Given the description of an element on the screen output the (x, y) to click on. 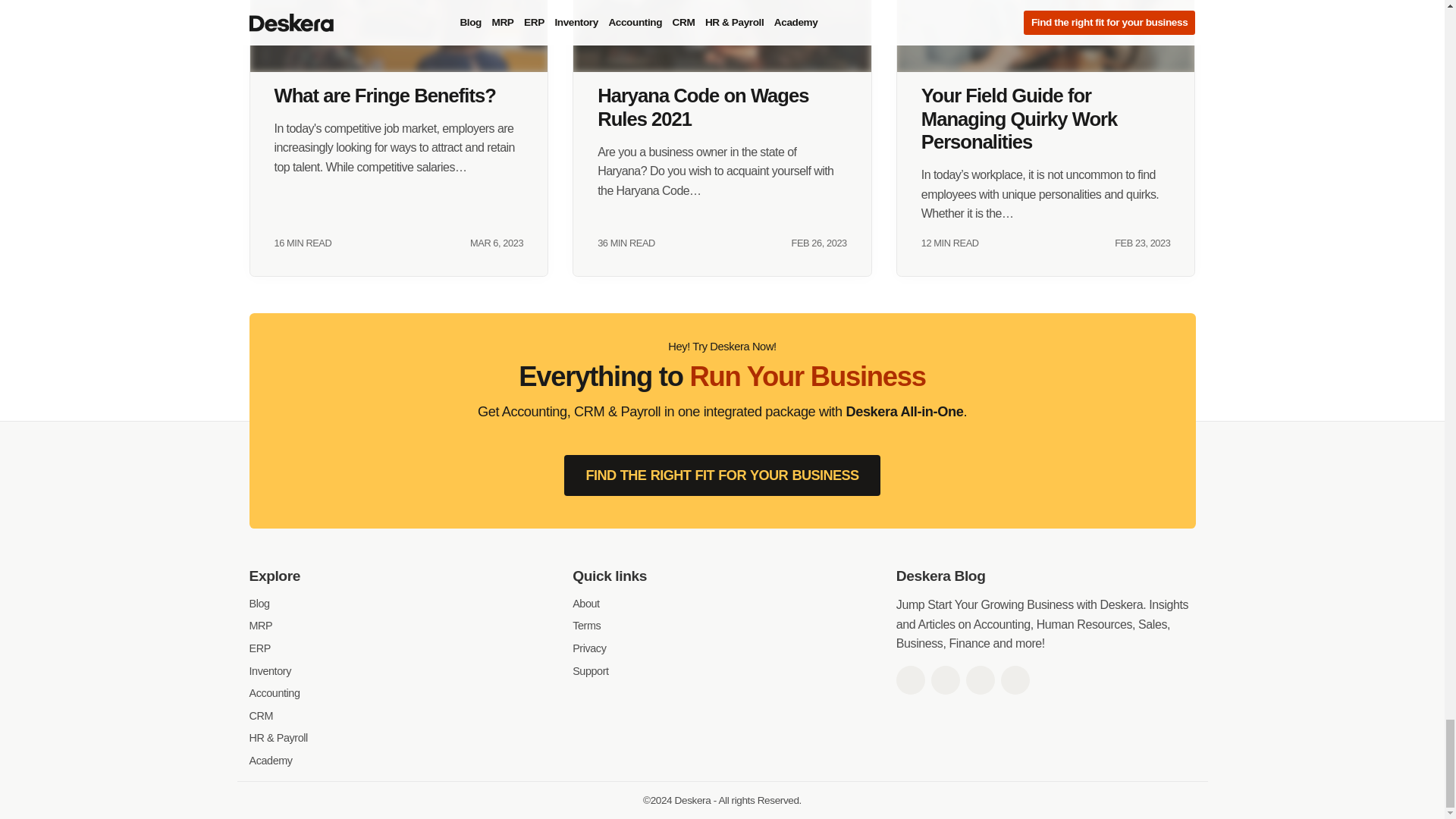
Deskera Linkedin (980, 679)
Facebook (910, 679)
What are Fringe Benefits? (399, 36)
Twitter (945, 679)
Your Field Guide for Managing Quirky Work Personalities (1045, 36)
Deskera YouTube (1015, 679)
Haryana Code on Wages Rules 2021 (721, 36)
